Given the description of an element on the screen output the (x, y) to click on. 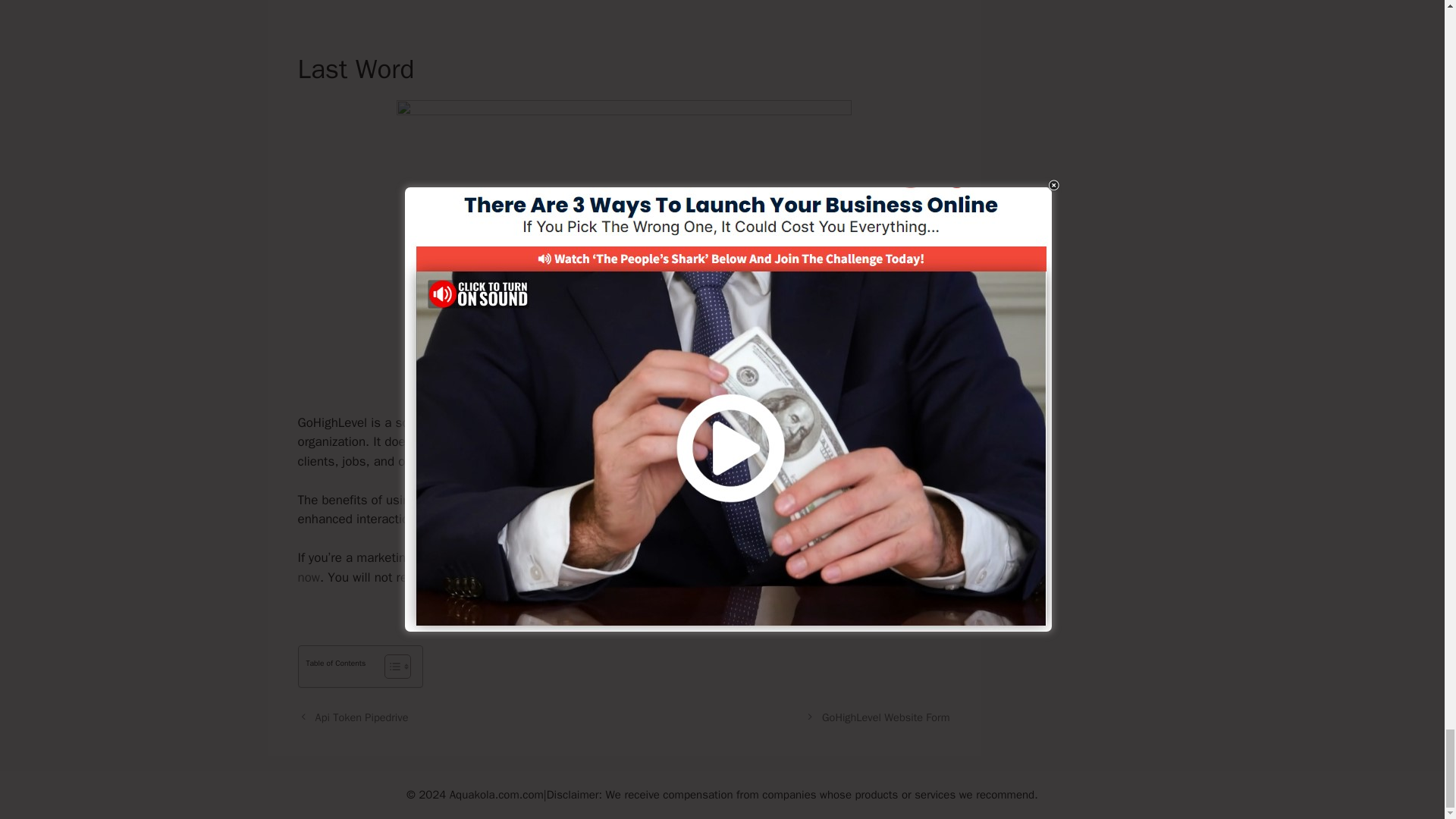
try GoHighLevel now (612, 567)
